Given the description of an element on the screen output the (x, y) to click on. 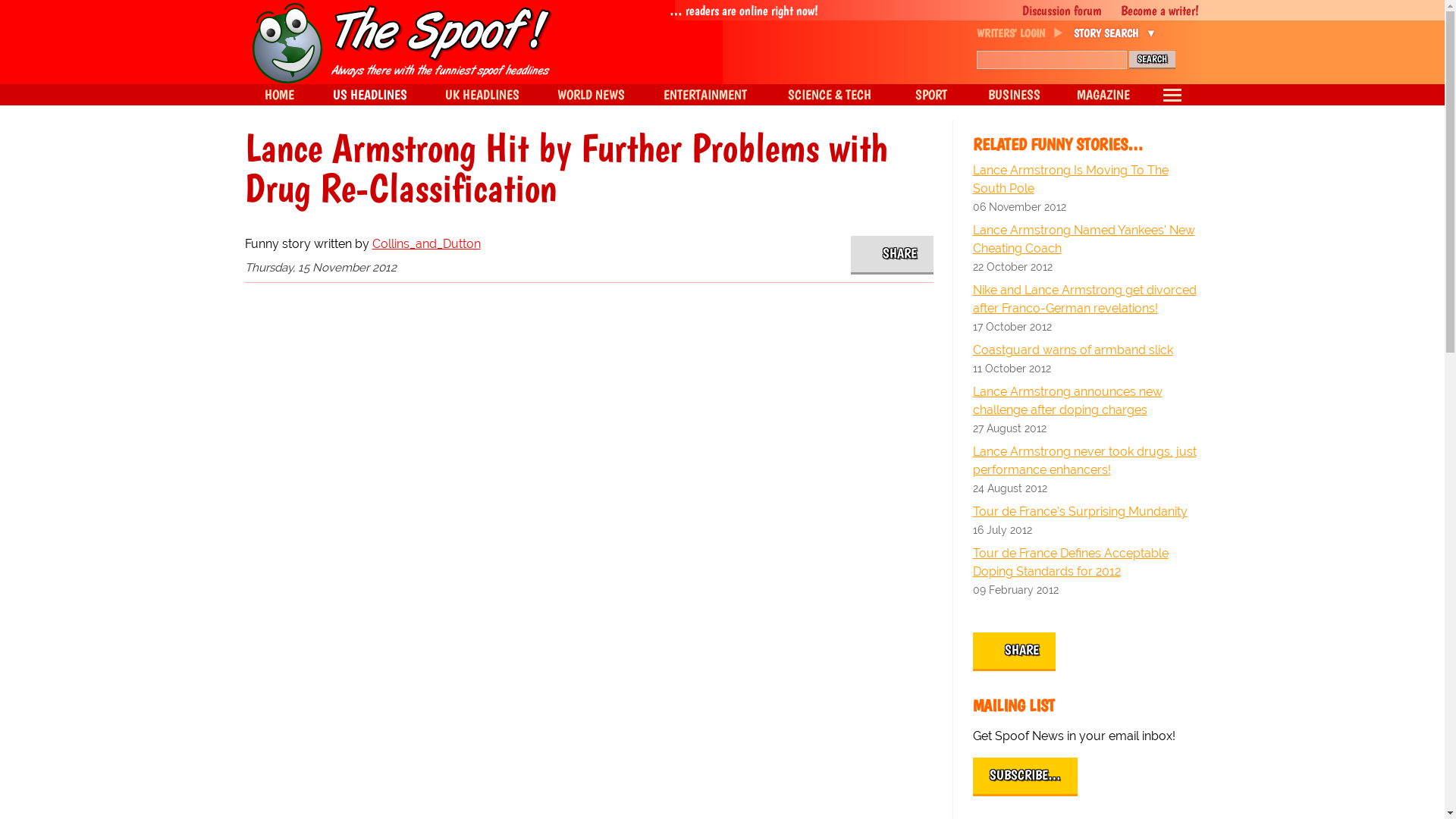
Spoof News Magazine (1102, 94)
Coastguard warns of armband slick (1085, 350)
HOME (278, 94)
Satire headlines (278, 94)
UK HEADLINES (482, 94)
SPORT (930, 94)
Spoof News US Headlines (370, 94)
WORLD NEWS (590, 94)
Login (1169, 73)
Lance Armstrong Is Moving To The South Pole (1085, 179)
Tour de France Defines Acceptable Doping Standards for 2012 (1085, 562)
View Writer's Profile (425, 243)
Lance Armstrong Named Yankees' New Cheating Coach (1085, 239)
